Given the description of an element on the screen output the (x, y) to click on. 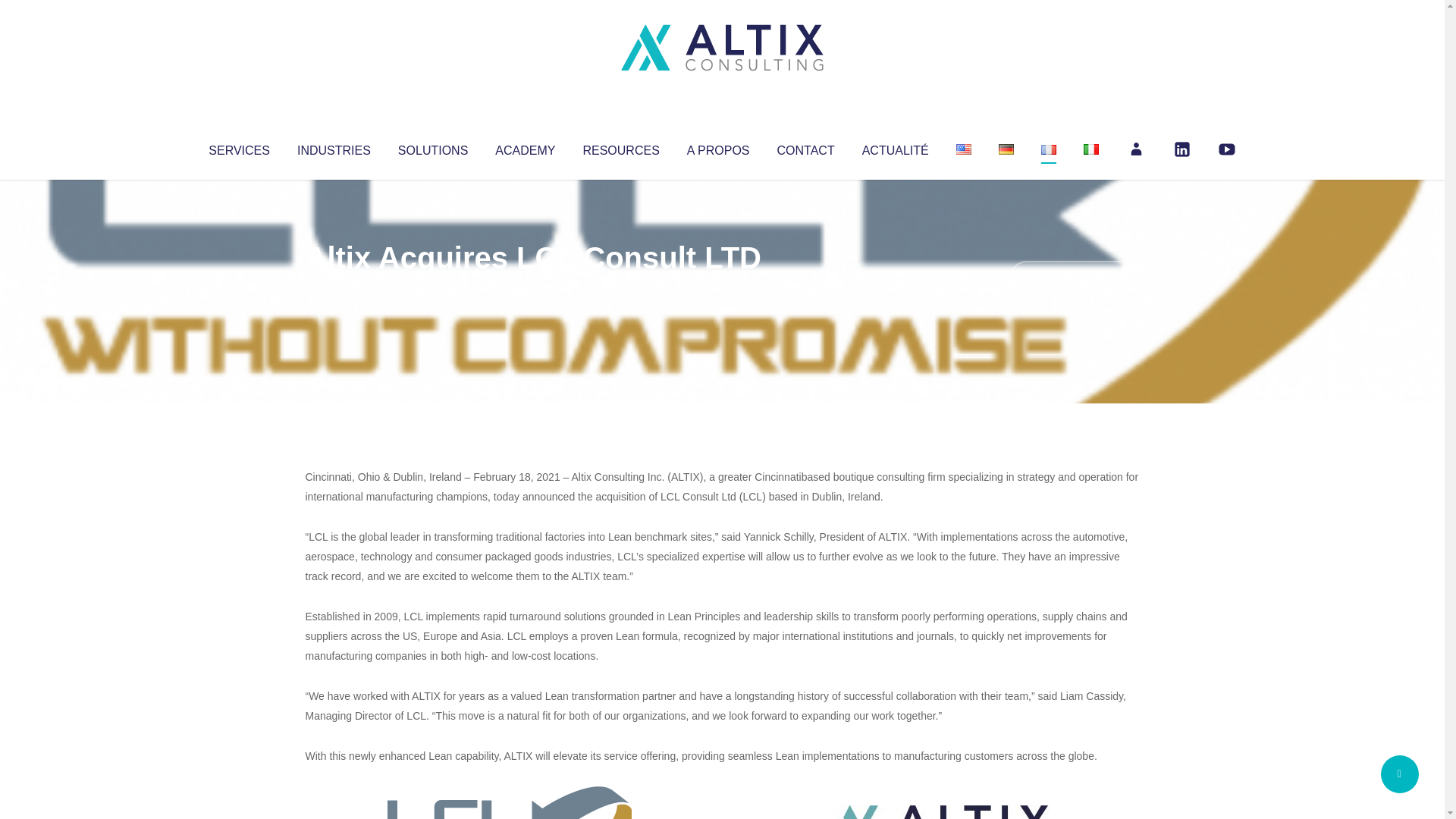
Altix (333, 287)
SERVICES (238, 146)
Uncategorized (530, 287)
RESOURCES (620, 146)
ACADEMY (524, 146)
Articles par Altix (333, 287)
SOLUTIONS (432, 146)
INDUSTRIES (334, 146)
A PROPOS (718, 146)
No Comments (1073, 278)
